Given the description of an element on the screen output the (x, y) to click on. 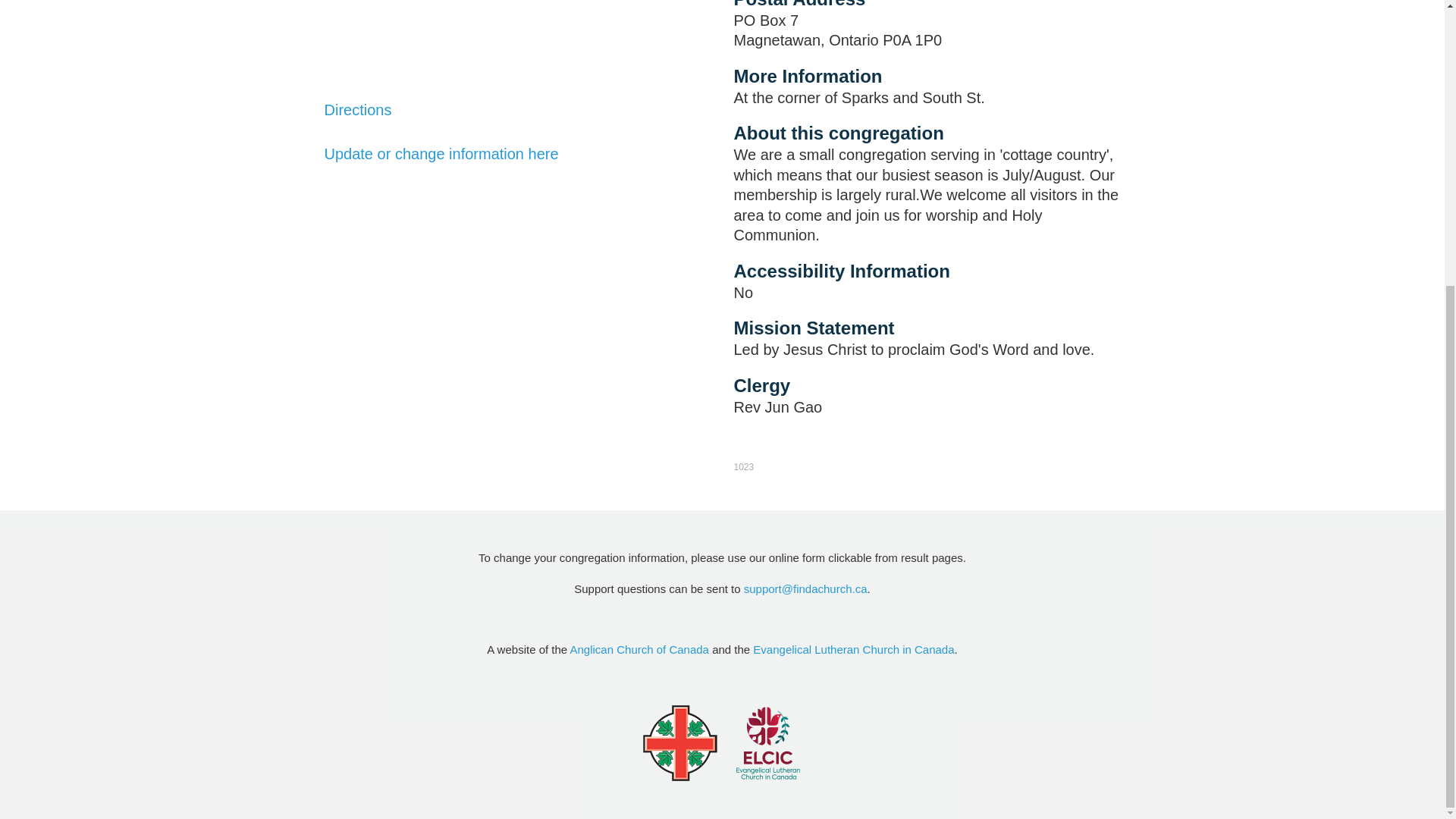
Update or change information here (441, 153)
acc100 (679, 743)
Anglican Church of Canada (639, 649)
clcic2 (767, 743)
Evangelical Lutheran Church in Canada (852, 649)
Directions (357, 109)
